Given the description of an element on the screen output the (x, y) to click on. 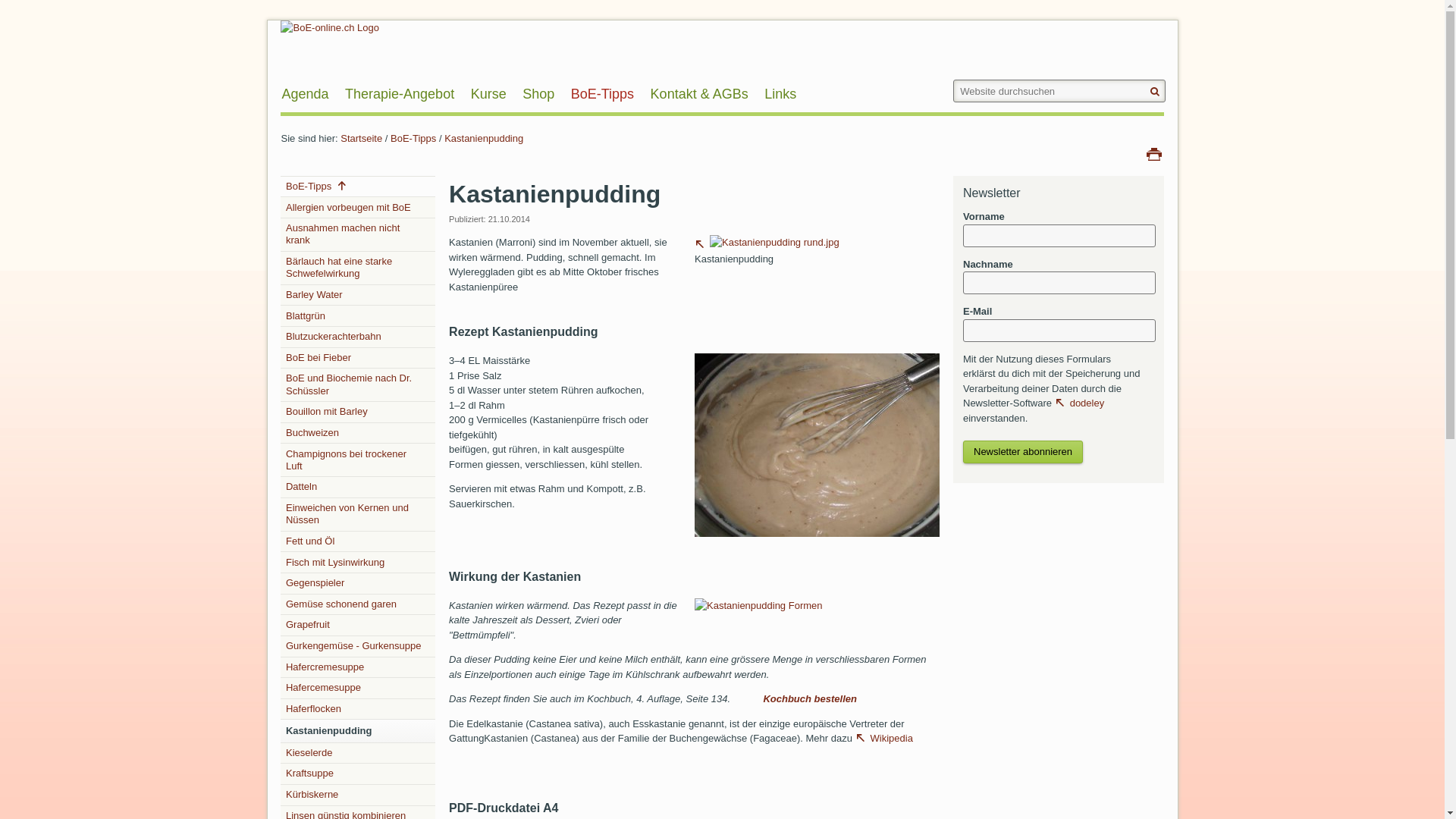
BoE-Tipps Element type: text (357, 186)
dodeley Element type: text (1079, 402)
Agenda Element type: text (304, 93)
Hafercemesuppe Element type: text (357, 687)
Startseite Element type: text (361, 138)
Kontakt & AGBs Element type: text (699, 93)
Buchweizen Element type: text (357, 433)
Bouillon mit Barley Element type: text (357, 411)
Newsletter abonnieren Element type: text (1022, 451)
Shop Element type: text (538, 93)
Allergien vorbeugen mit BoE Element type: text (357, 207)
Barley Water Element type: text (357, 295)
Blutzuckerachterbahn Element type: text (357, 336)
Kieselerde Element type: text (357, 753)
BoE bei Fieber Element type: text (357, 358)
Website durchsuchen Element type: hover (1059, 90)
bestellen Element type: text (835, 698)
Fisch mit Lysinwirkung Element type: text (357, 562)
Grapefruit Element type: text (357, 625)
Hafercremesuppe Element type: text (357, 666)
Kochbuch Element type: text (787, 698)
Ausnahmen machen nicht krank Element type: text (357, 234)
BoE-online.ch Element type: hover (329, 48)
Kurse Element type: text (488, 93)
BoE-Tipps Element type: text (413, 138)
Kastanienpudding Element type: hover (766, 244)
Gegenspieler Element type: text (357, 583)
Haferflocken Element type: text (357, 709)
Therapie-Angebot Element type: text (399, 93)
Kastanienpudding Element type: hover (774, 242)
Wikipedia Element type: text (884, 737)
Champignons bei trockener Luft Element type: text (357, 459)
Kraftsuppe Element type: text (357, 773)
Datteln Element type: text (357, 486)
Suche Element type: text (24, 11)
Drucken Element type: text (1153, 152)
Suche Element type: text (952, 78)
Kastanienpudding Element type: text (483, 138)
BoE-Tipps Element type: text (602, 93)
Links Element type: text (780, 93)
